Given the description of an element on the screen output the (x, y) to click on. 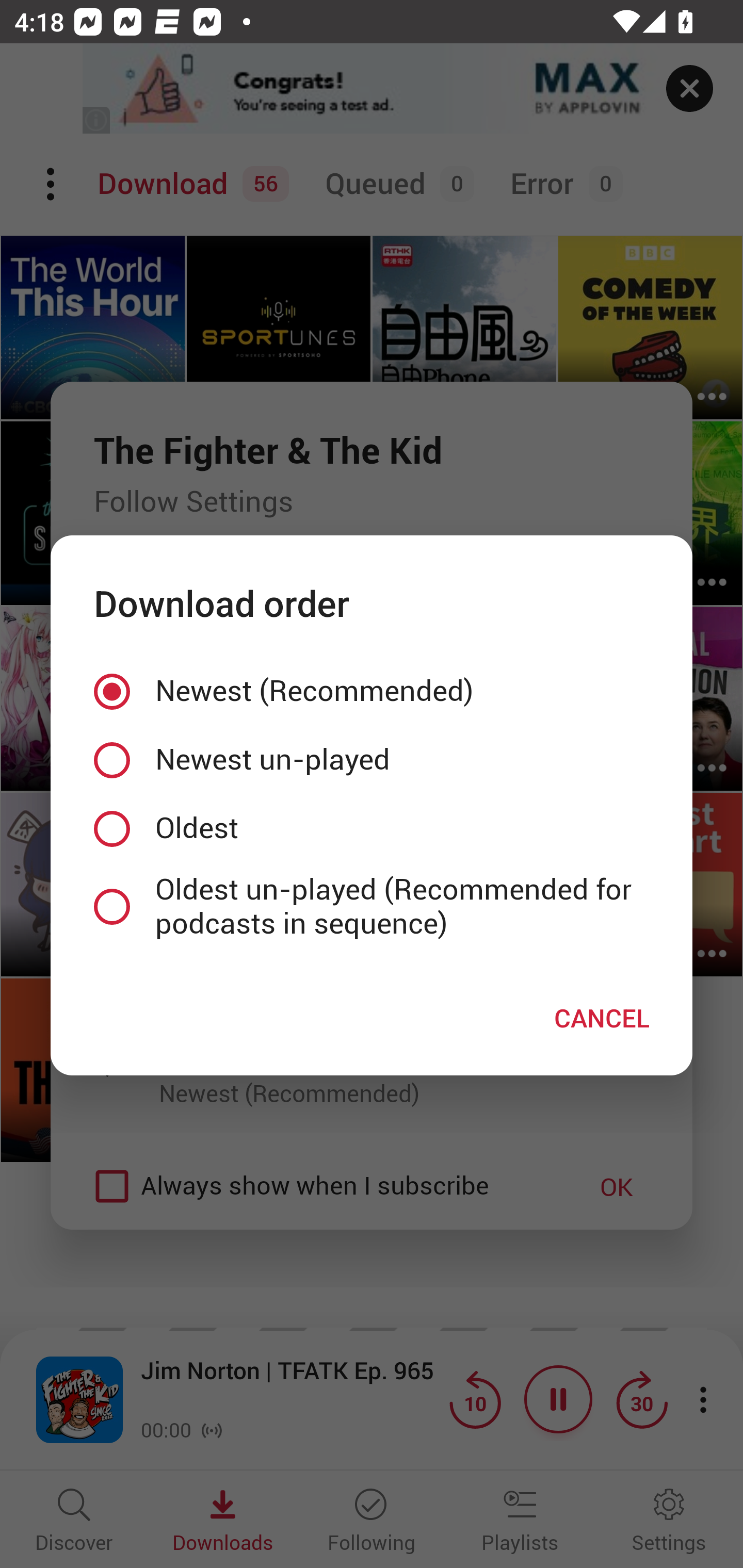
Newest (Recommended) (371, 692)
Newest un-played (371, 759)
Oldest (371, 828)
CANCEL (600, 1017)
